Given the description of an element on the screen output the (x, y) to click on. 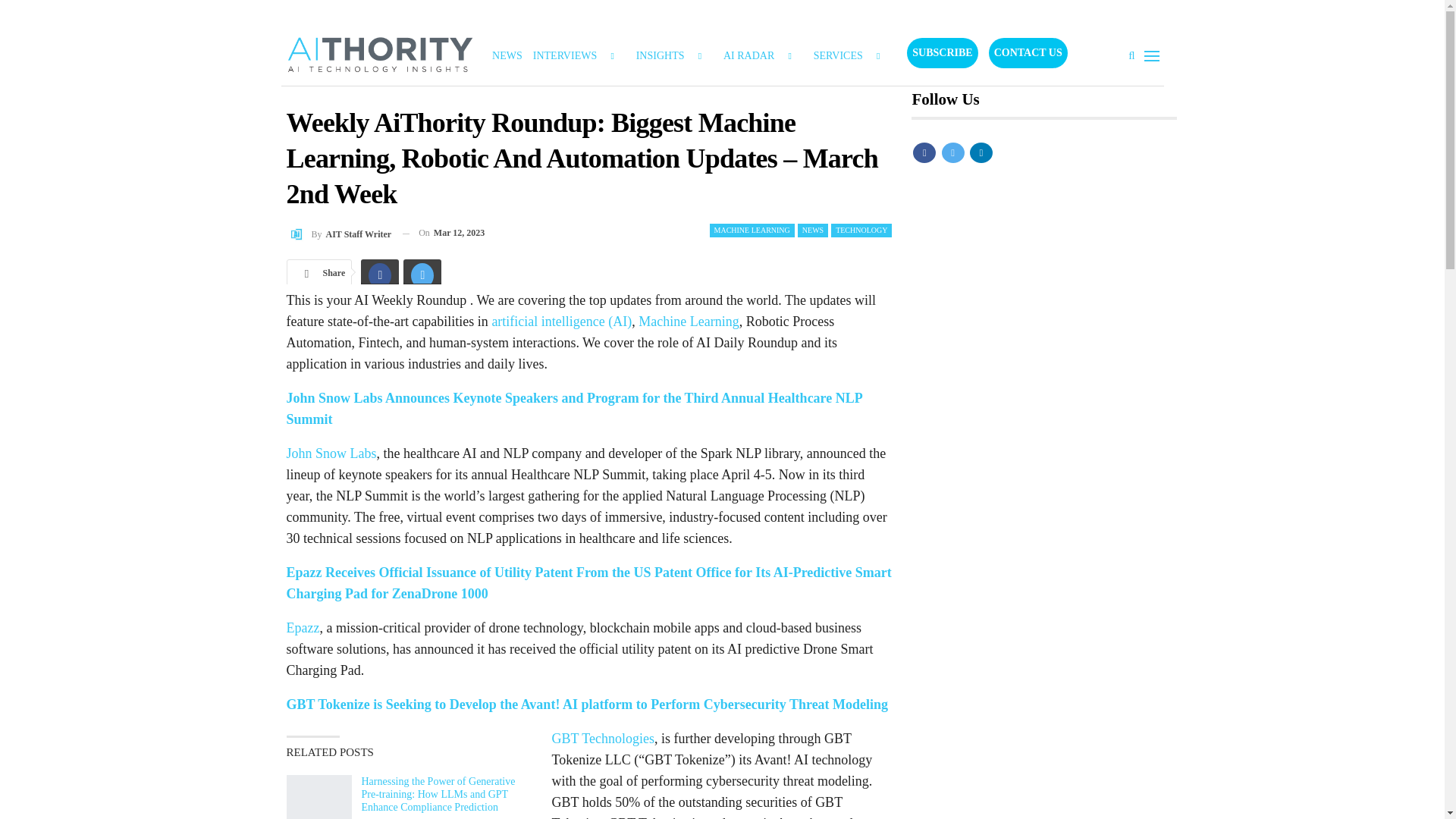
TECHNOLOGY (861, 230)
By AIT Staff Writer (338, 232)
SUBSCRIBE (941, 52)
Epazz (303, 627)
Machine Learning (688, 321)
Browse Author Articles (338, 232)
NEWS (812, 230)
